Given the description of an element on the screen output the (x, y) to click on. 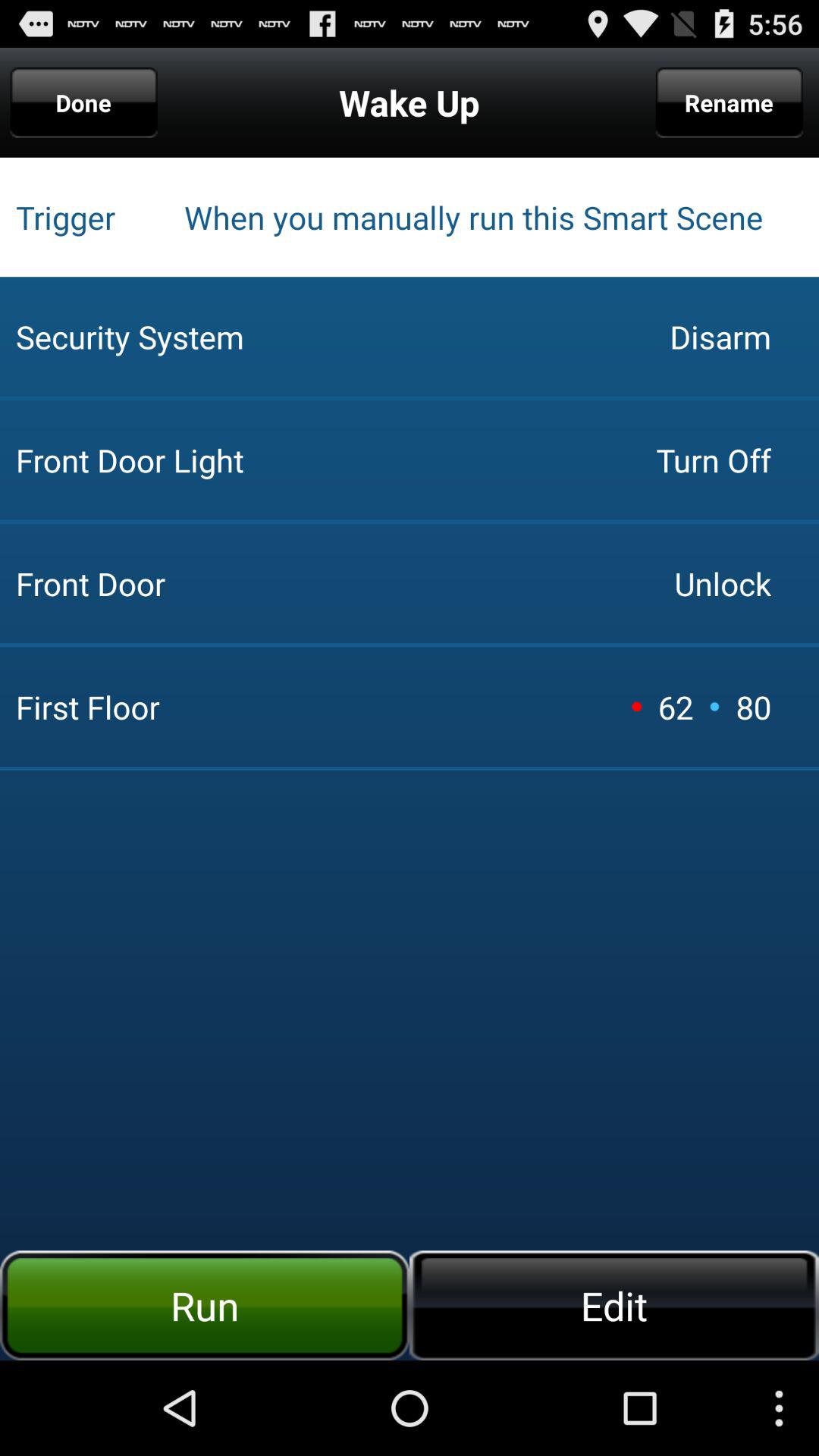
choose the icon next to turn off app (329, 336)
